Given the description of an element on the screen output the (x, y) to click on. 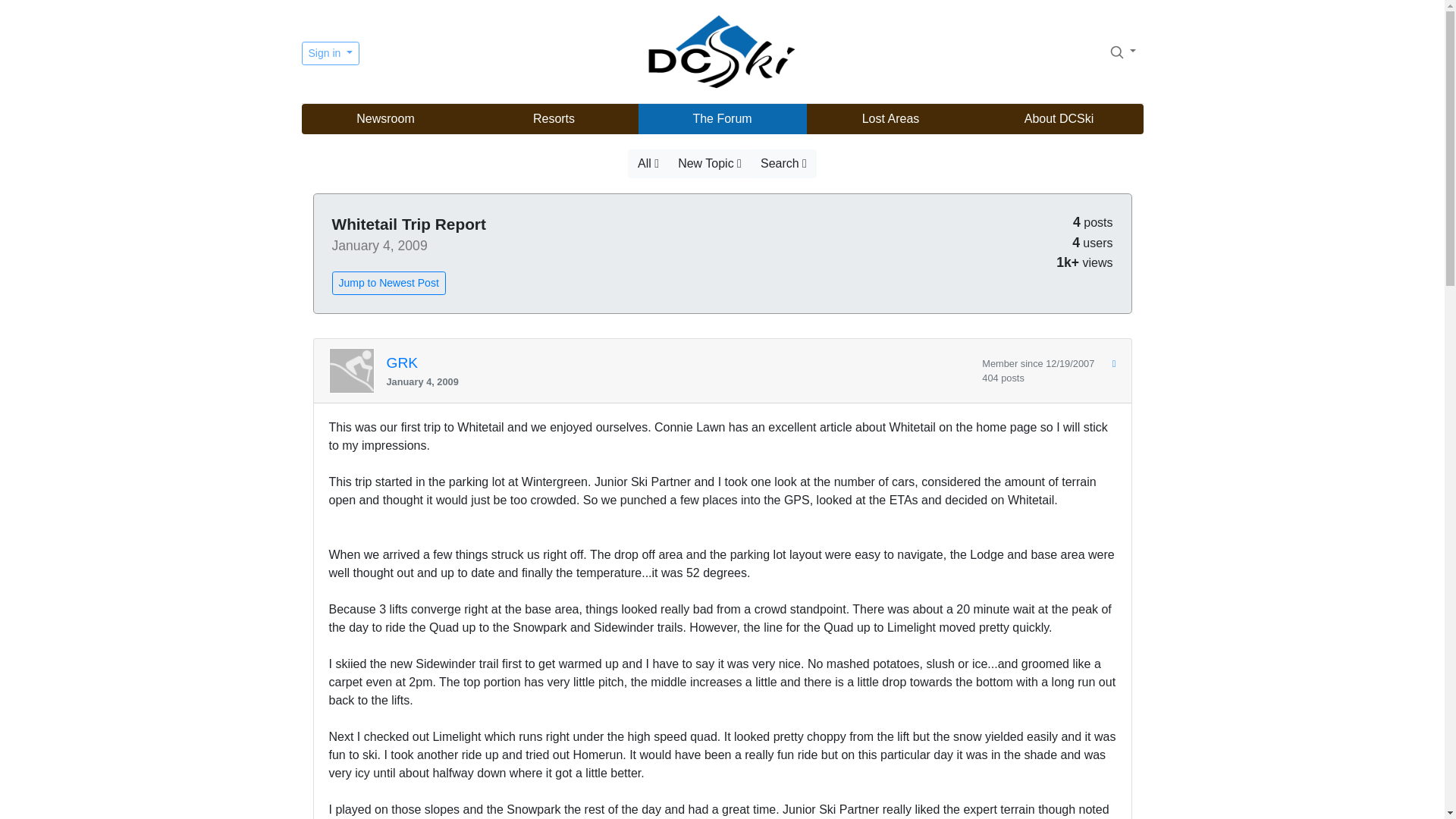
GRK (403, 363)
Sign in (330, 53)
Search (1122, 51)
Newsroom (385, 119)
Resorts (554, 119)
The Forum (722, 119)
Lost Areas (890, 119)
About DCSki (1058, 119)
Search (1116, 52)
Jump to Newest Post (388, 282)
January 4, 2009 at 12:46 am (679, 381)
